Given the description of an element on the screen output the (x, y) to click on. 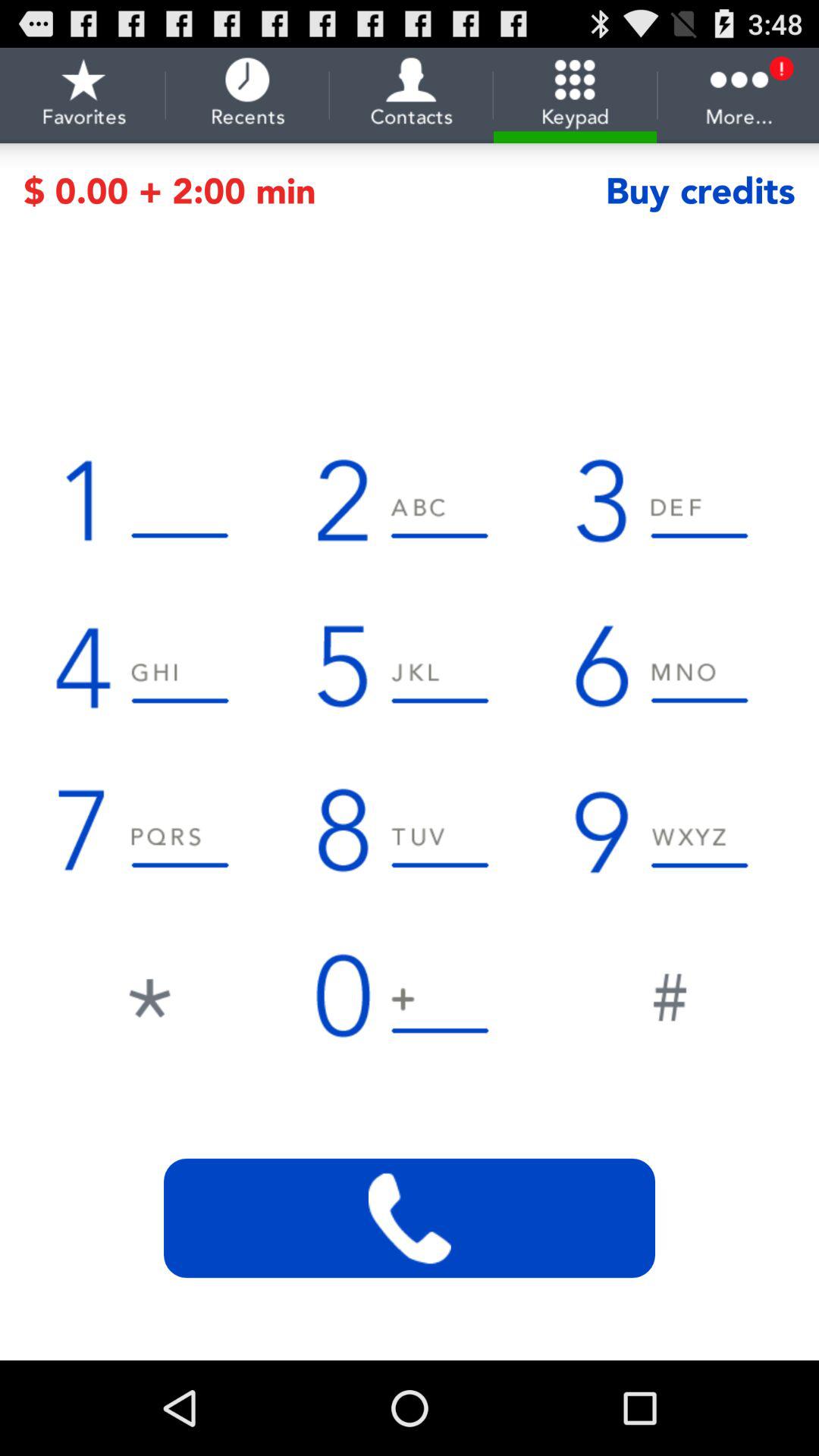
turn on the icon next to the 0 00 2 item (700, 190)
